Given the description of an element on the screen output the (x, y) to click on. 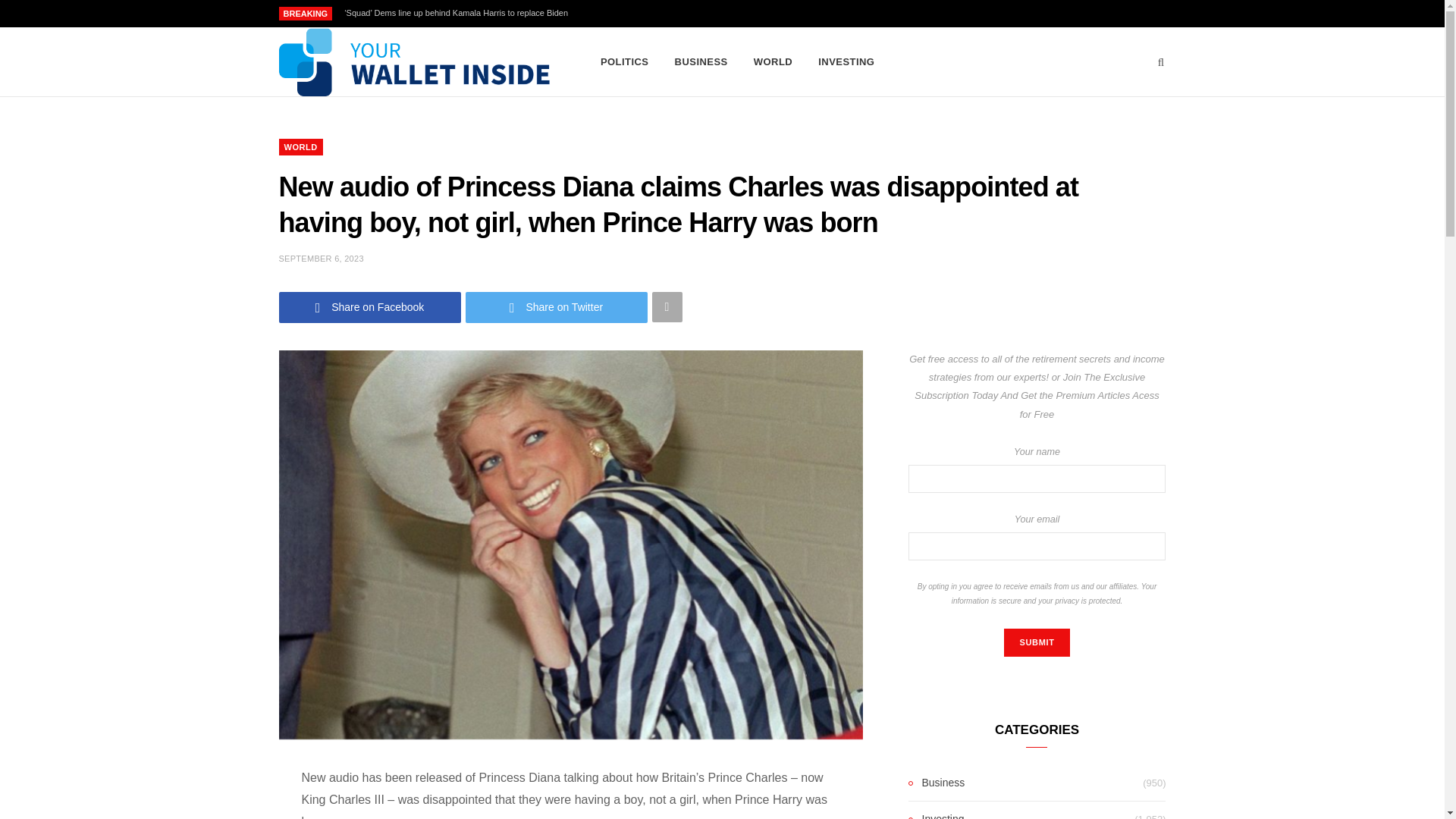
INVESTING (845, 61)
Your Wallet Inside (415, 61)
Submit (1036, 642)
Share on Twitter (556, 306)
Share on Twitter (556, 306)
POLITICS (625, 61)
SEPTEMBER 6, 2023 (321, 257)
Search (1161, 61)
Share on Facebook (370, 306)
BUSINESS (701, 61)
WORLD (301, 146)
Share on Facebook (370, 306)
WORLD (772, 61)
